Given the description of an element on the screen output the (x, y) to click on. 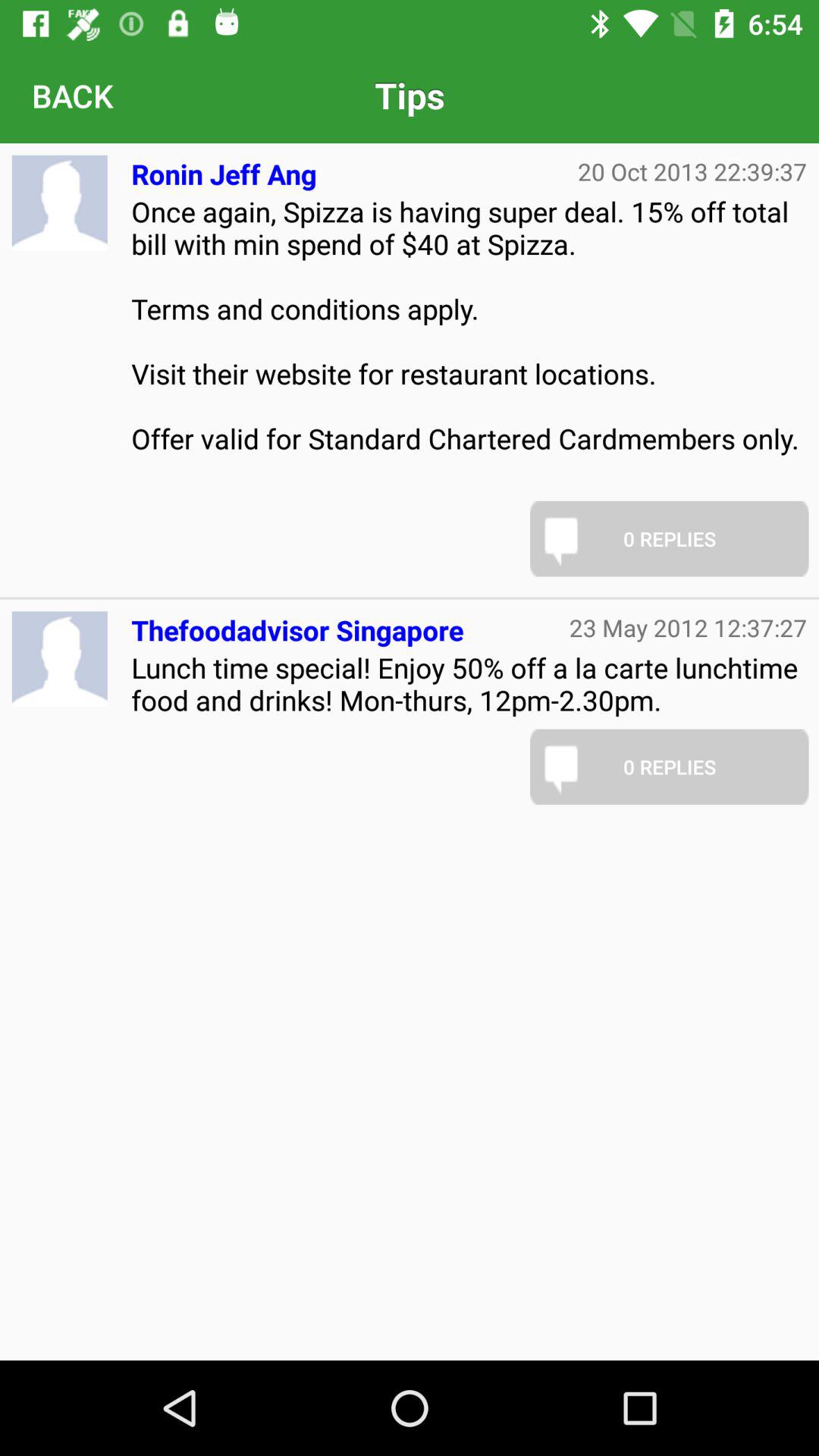
turn on the item to the right of thefoodadvisor singapore icon (688, 627)
